Given the description of an element on the screen output the (x, y) to click on. 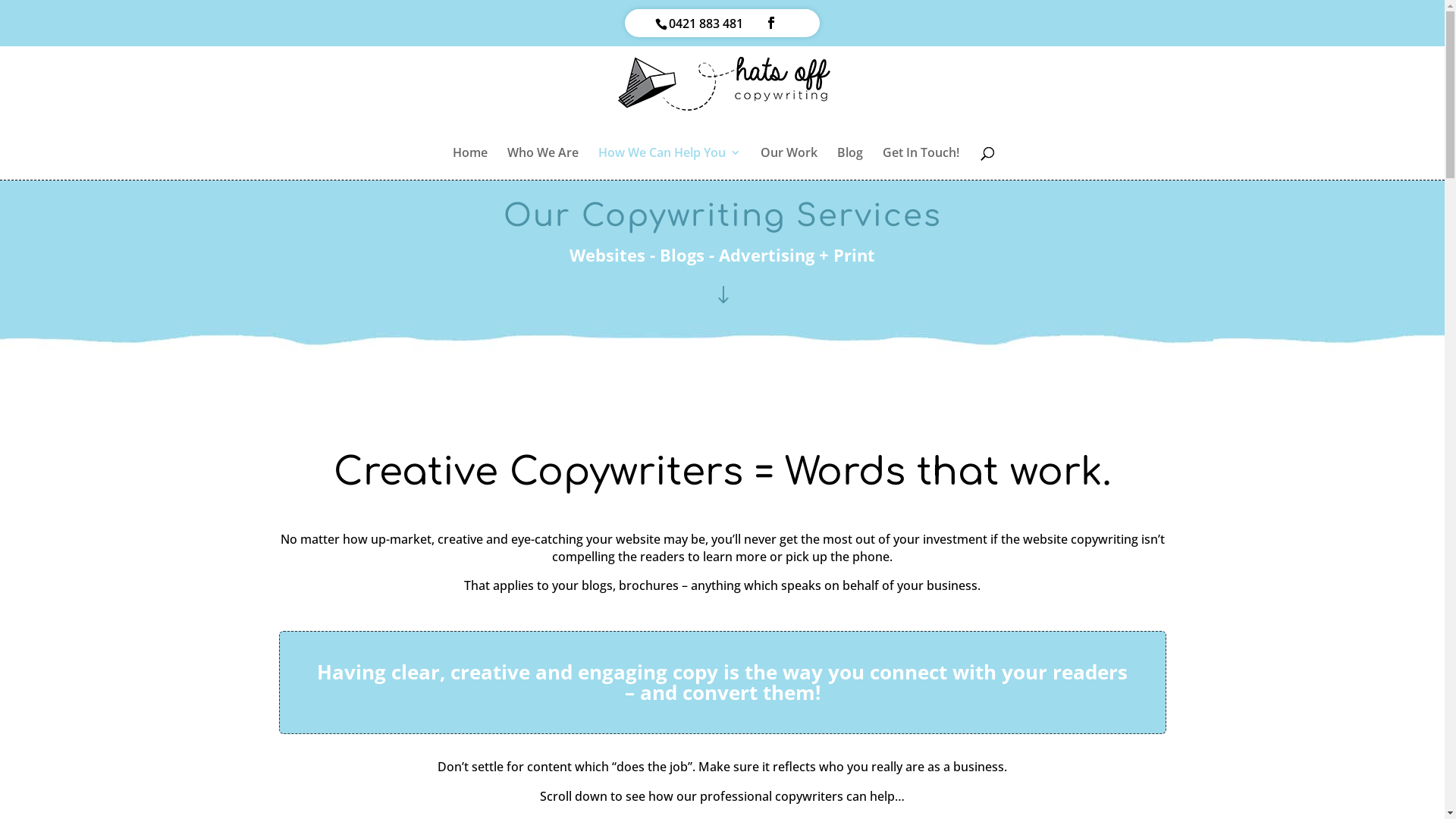
" Element type: text (722, 296)
Get In Touch! Element type: text (920, 163)
Blog Element type: text (849, 163)
Home Element type: text (468, 163)
How We Can Help You Element type: text (668, 163)
Our Work Element type: text (787, 163)
0421 883 481 Element type: text (705, 23)
Who We Are Element type: text (541, 163)
